Given the description of an element on the screen output the (x, y) to click on. 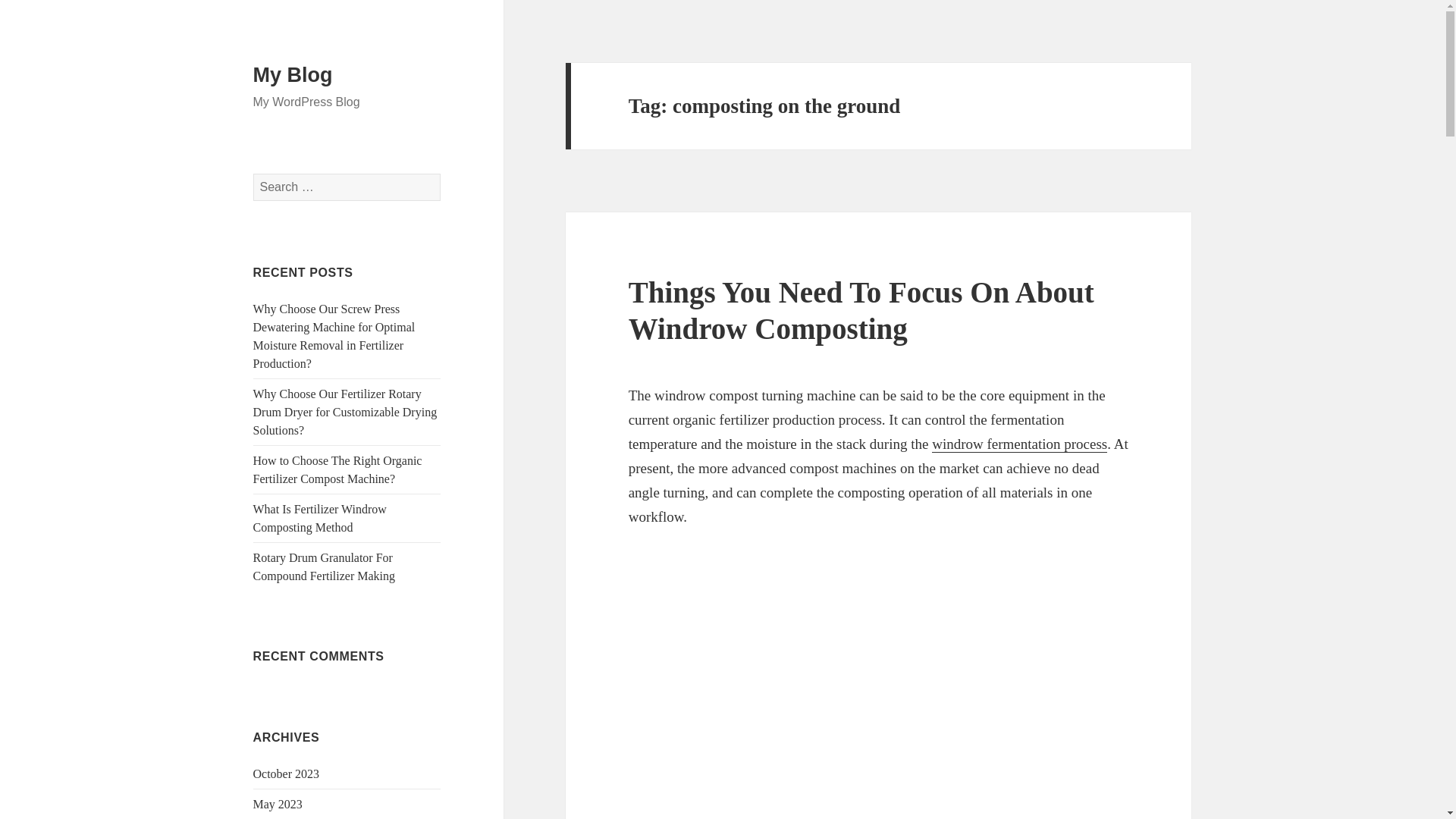
My Blog (293, 74)
May 2023 (277, 803)
What Is Fertilizer Windrow Composting Method (320, 517)
How to Choose The Right Organic Fertilizer Compost Machine? (337, 469)
Rotary Drum Granulator For Compound Fertilizer Making (324, 566)
YouTube video player (878, 672)
October 2023 (286, 773)
